Given the description of an element on the screen output the (x, y) to click on. 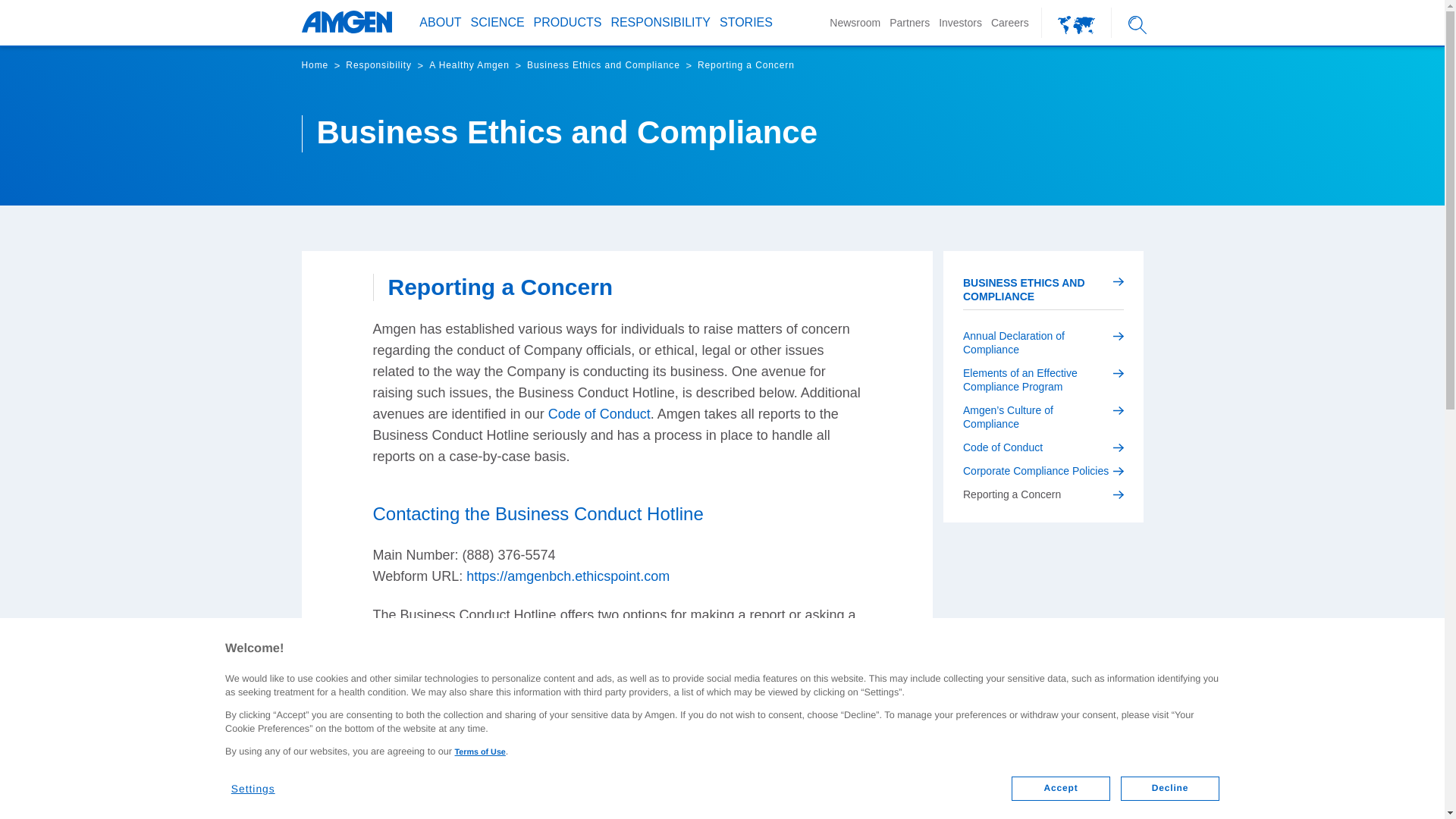
Settings (262, 782)
Terms of Use (479, 751)
Accept (1060, 788)
Decline (1170, 788)
